Given the description of an element on the screen output the (x, y) to click on. 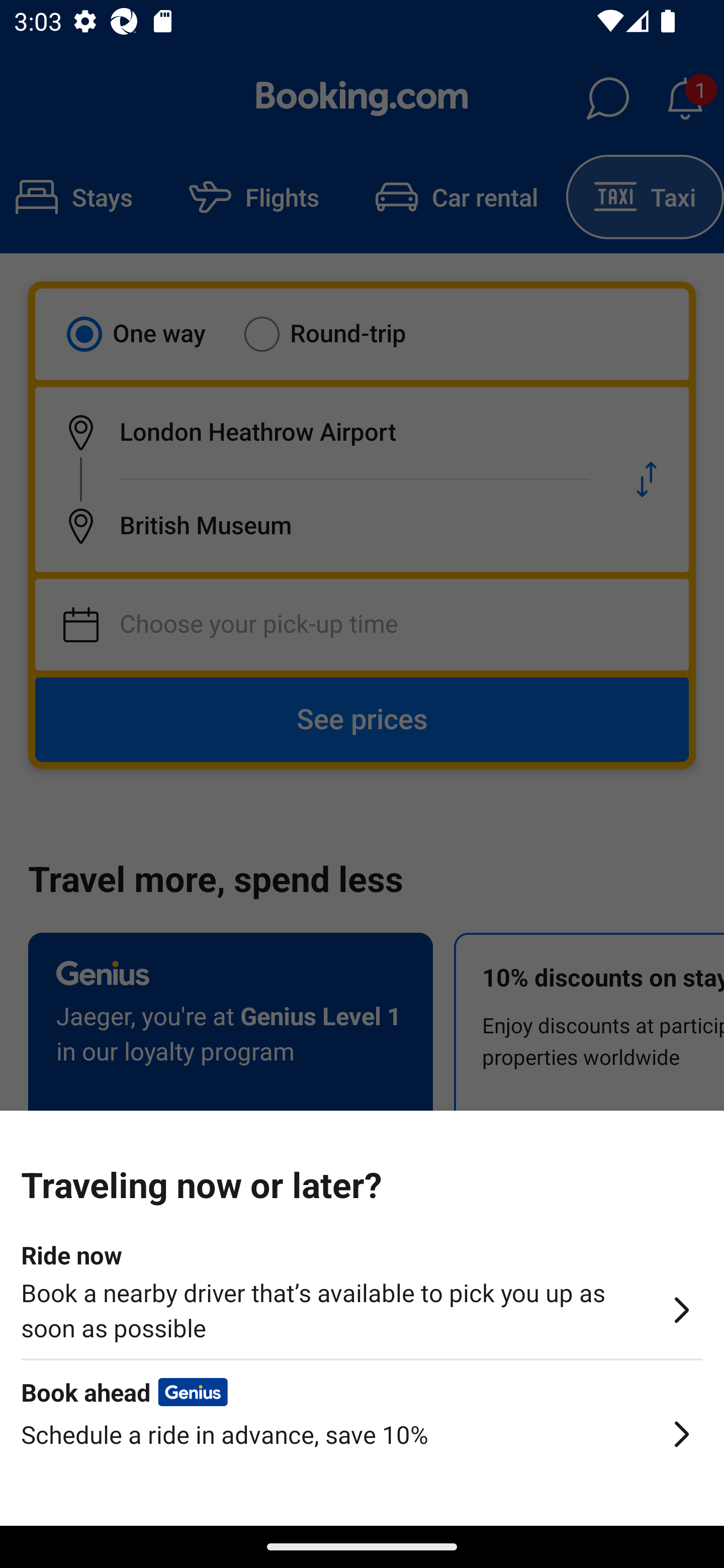
Book ahead Schedule a ride in advance, save 10% (361, 1450)
